Given the description of an element on the screen output the (x, y) to click on. 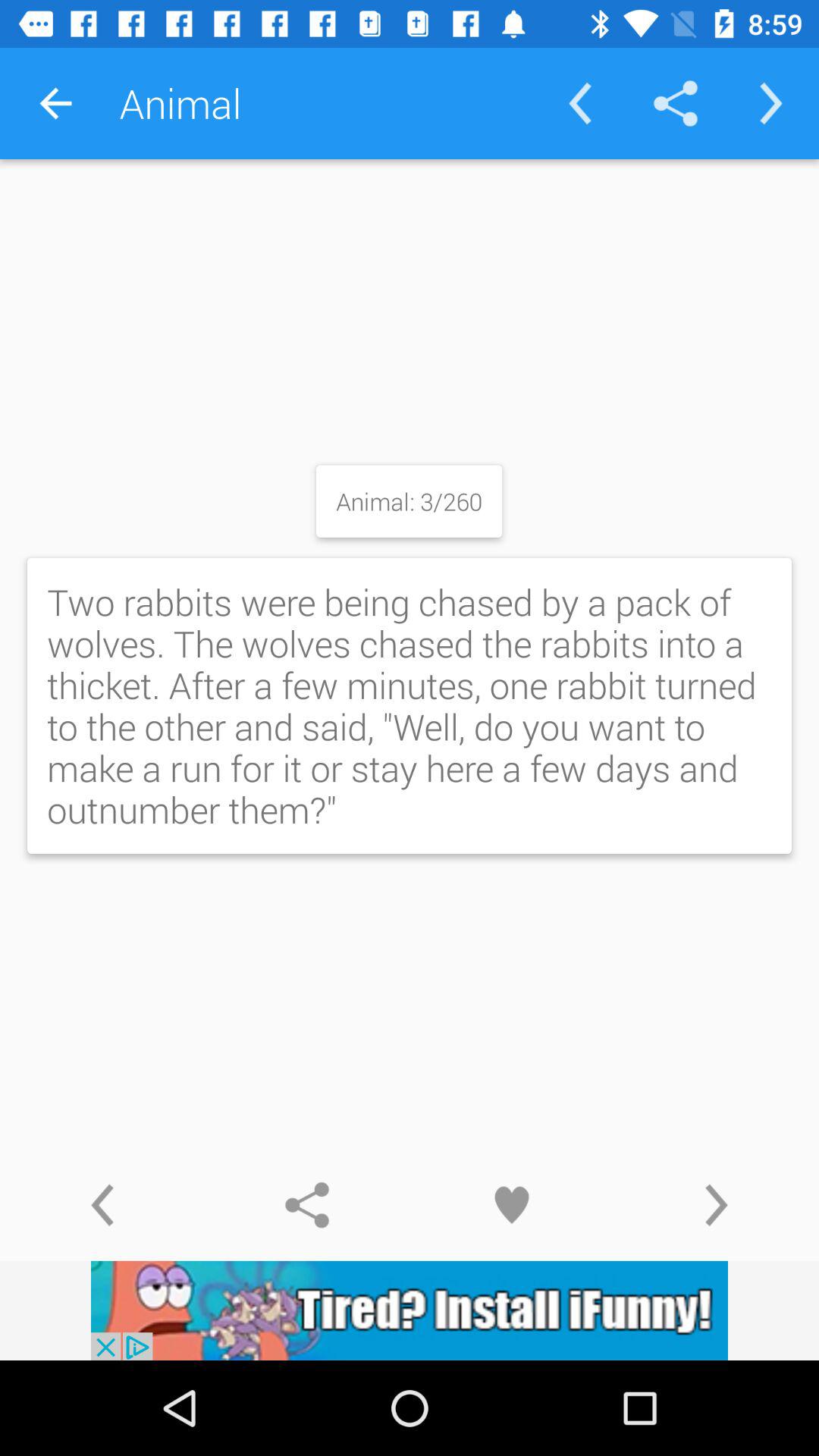
go to advertisement website (409, 1310)
